Given the description of an element on the screen output the (x, y) to click on. 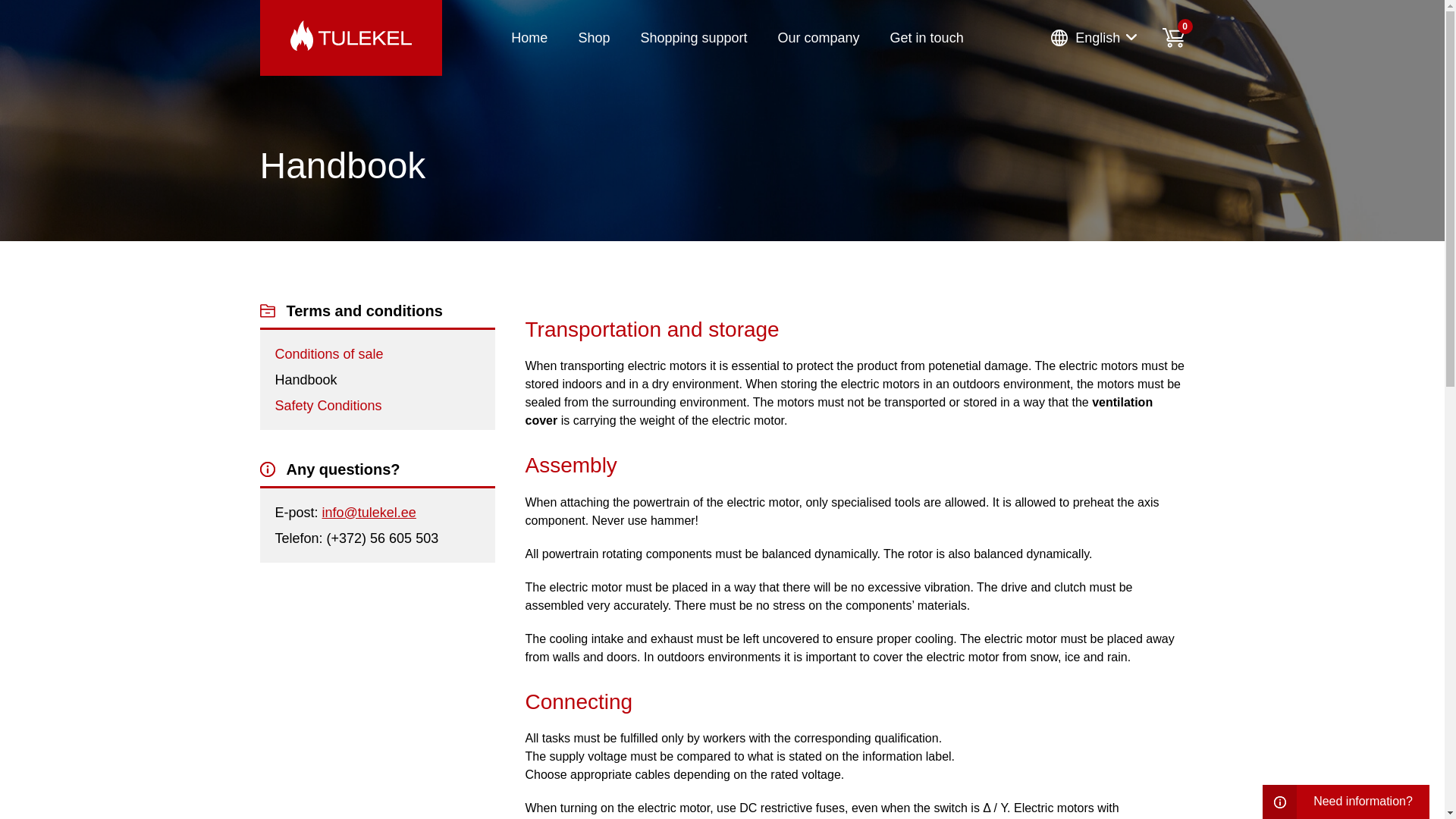
Conditions of sale (328, 353)
Shopping support (693, 37)
View shopping cart (1173, 37)
Our company (818, 37)
Home (529, 37)
arrowsArtboard 79 (1131, 36)
0 (1173, 37)
Handbook (305, 379)
Safety Conditions (328, 405)
Shop (594, 37)
Get in touch (926, 37)
Need information? (1345, 801)
